Given the description of an element on the screen output the (x, y) to click on. 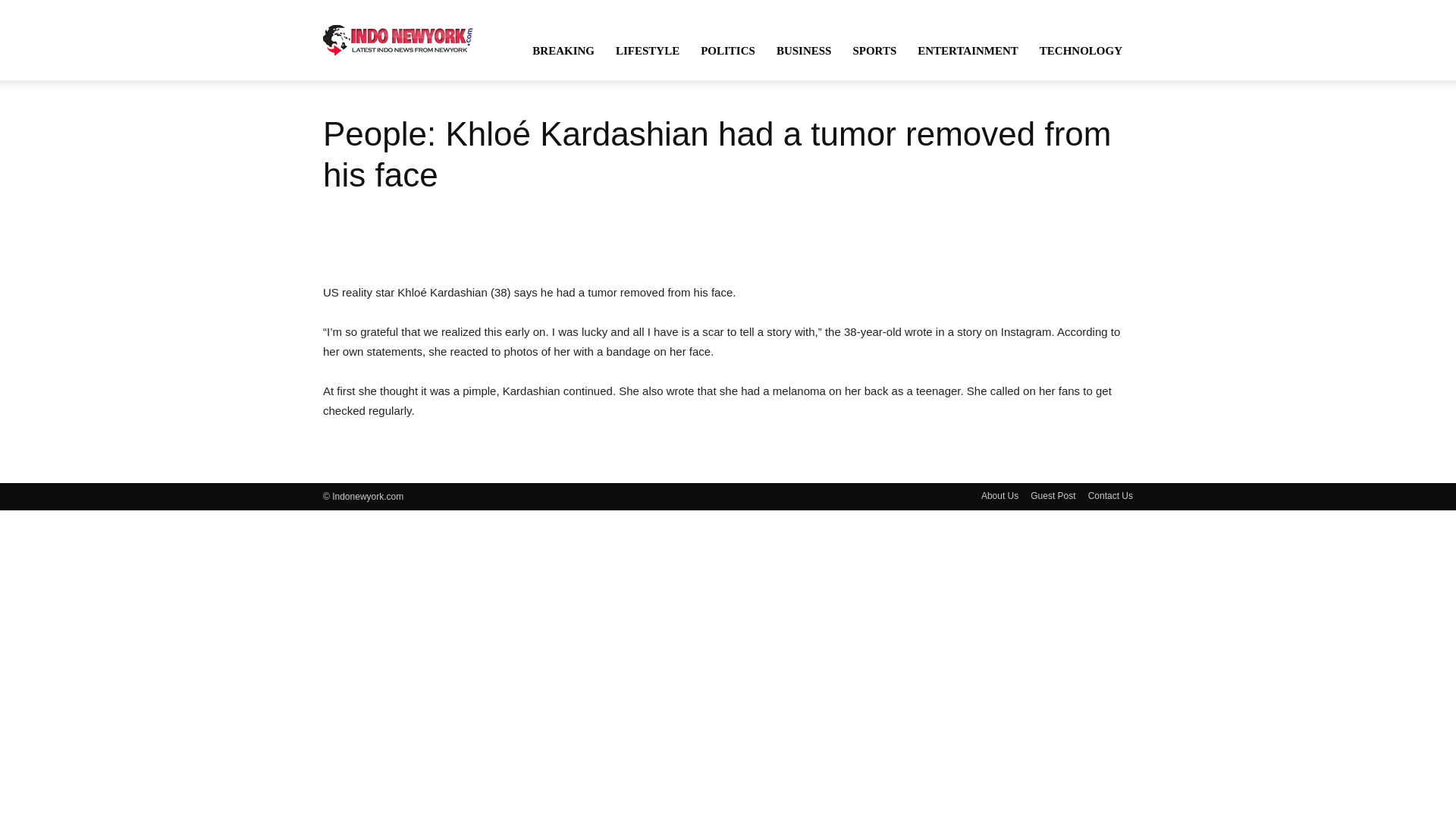
Contact Us (1109, 495)
BREAKING (563, 50)
About Us (999, 495)
POLITICS (727, 50)
Guest Post (1052, 495)
LIFESTYLE (647, 50)
ENTERTAINMENT (968, 50)
SPORTS (874, 50)
Indo Newyork (398, 39)
BUSINESS (804, 50)
TECHNOLOGY (1080, 50)
